Given the description of an element on the screen output the (x, y) to click on. 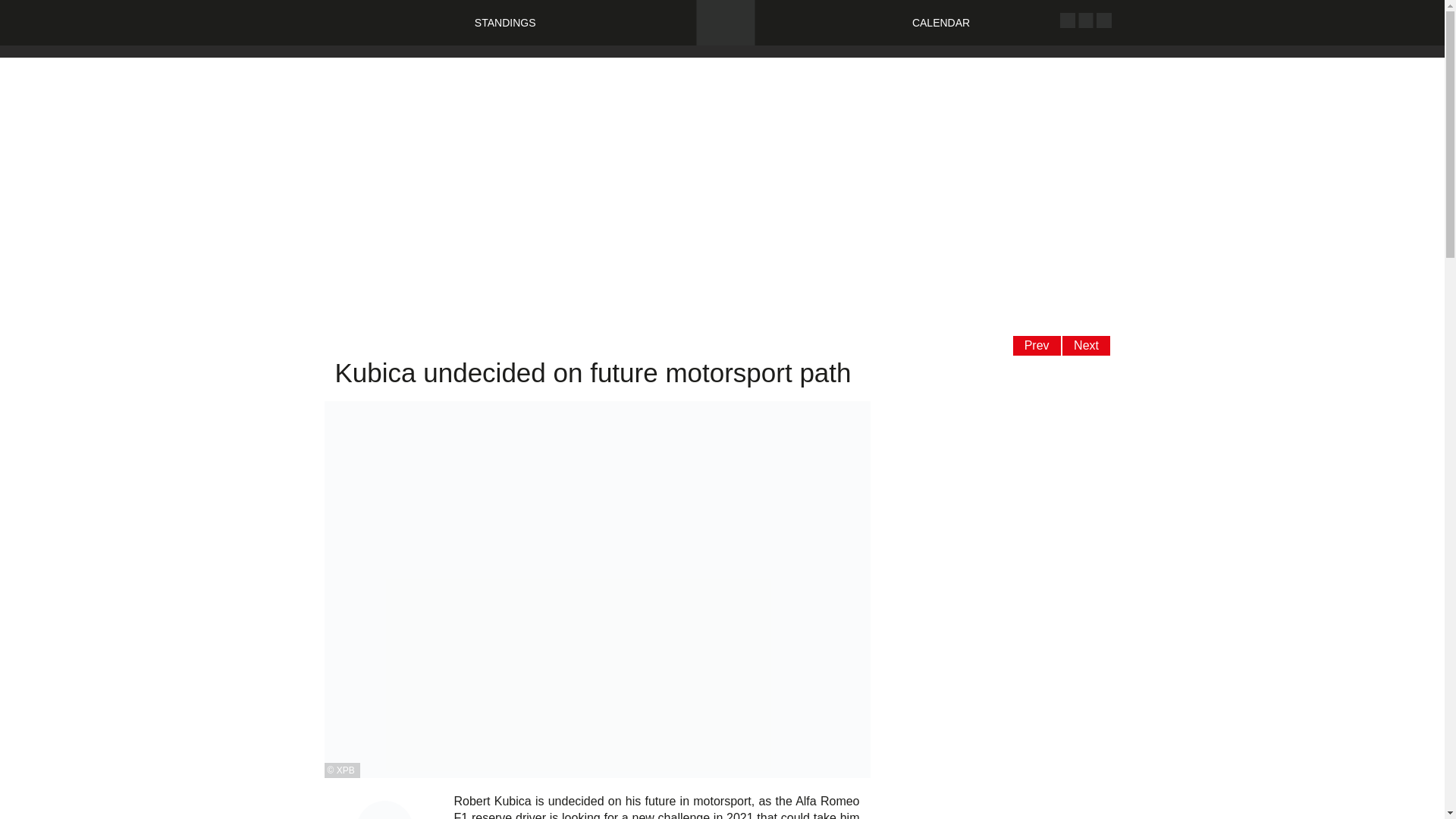
CALENDAR (940, 22)
STANDINGS (504, 22)
